Given the description of an element on the screen output the (x, y) to click on. 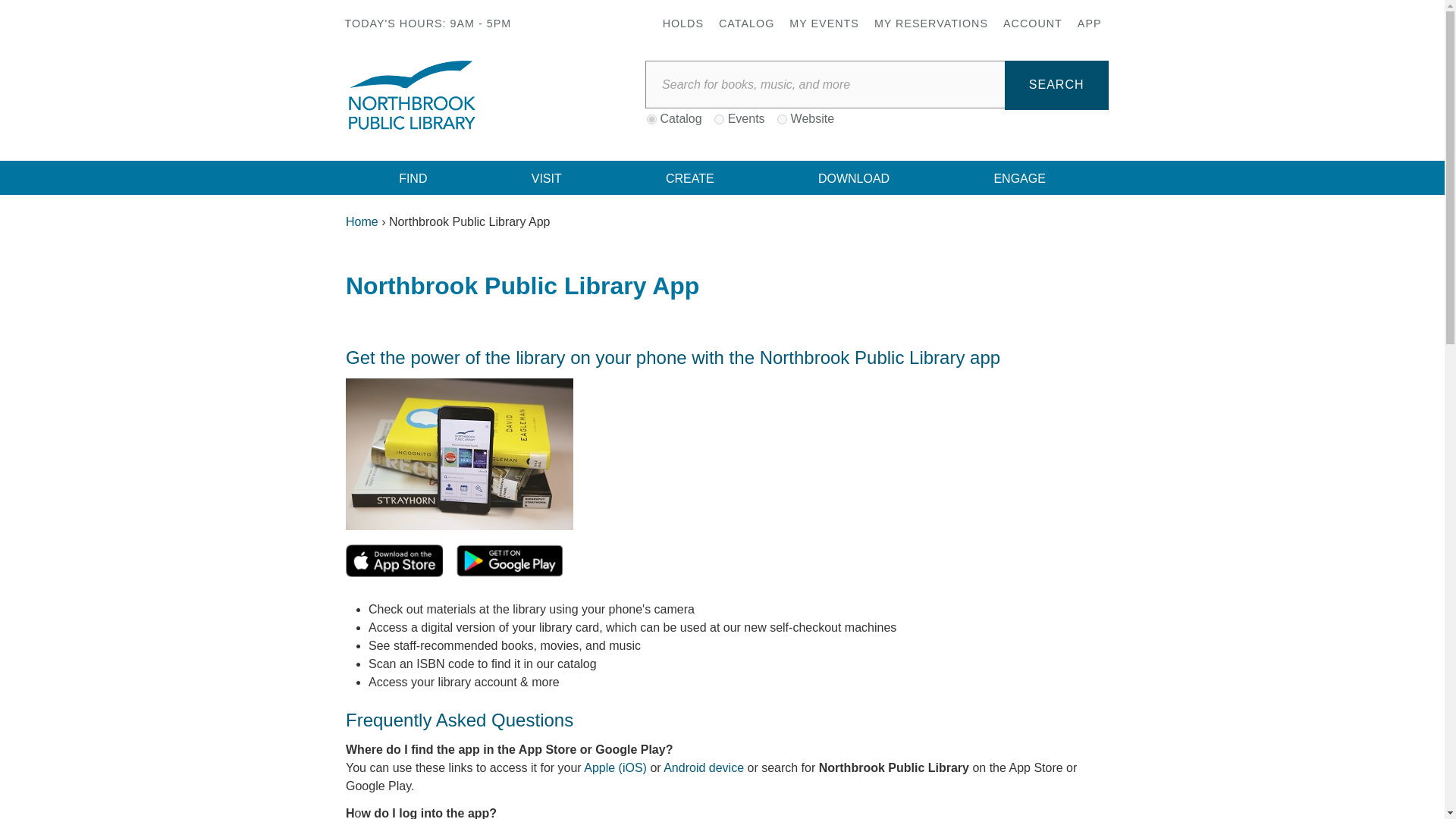
Manage your event registrations. (824, 23)
ACCOUNT (1032, 23)
FIND (413, 177)
events (718, 119)
Install the Northbrook Public Library app (1089, 23)
CATALOG (746, 23)
Access your library account (1032, 23)
Manage your room reservations (931, 23)
HOLDS (682, 23)
website (782, 119)
MY EVENTS (824, 23)
MY RESERVATIONS (931, 23)
Search (1056, 84)
catalog (651, 119)
APP (1089, 23)
